Given the description of an element on the screen output the (x, y) to click on. 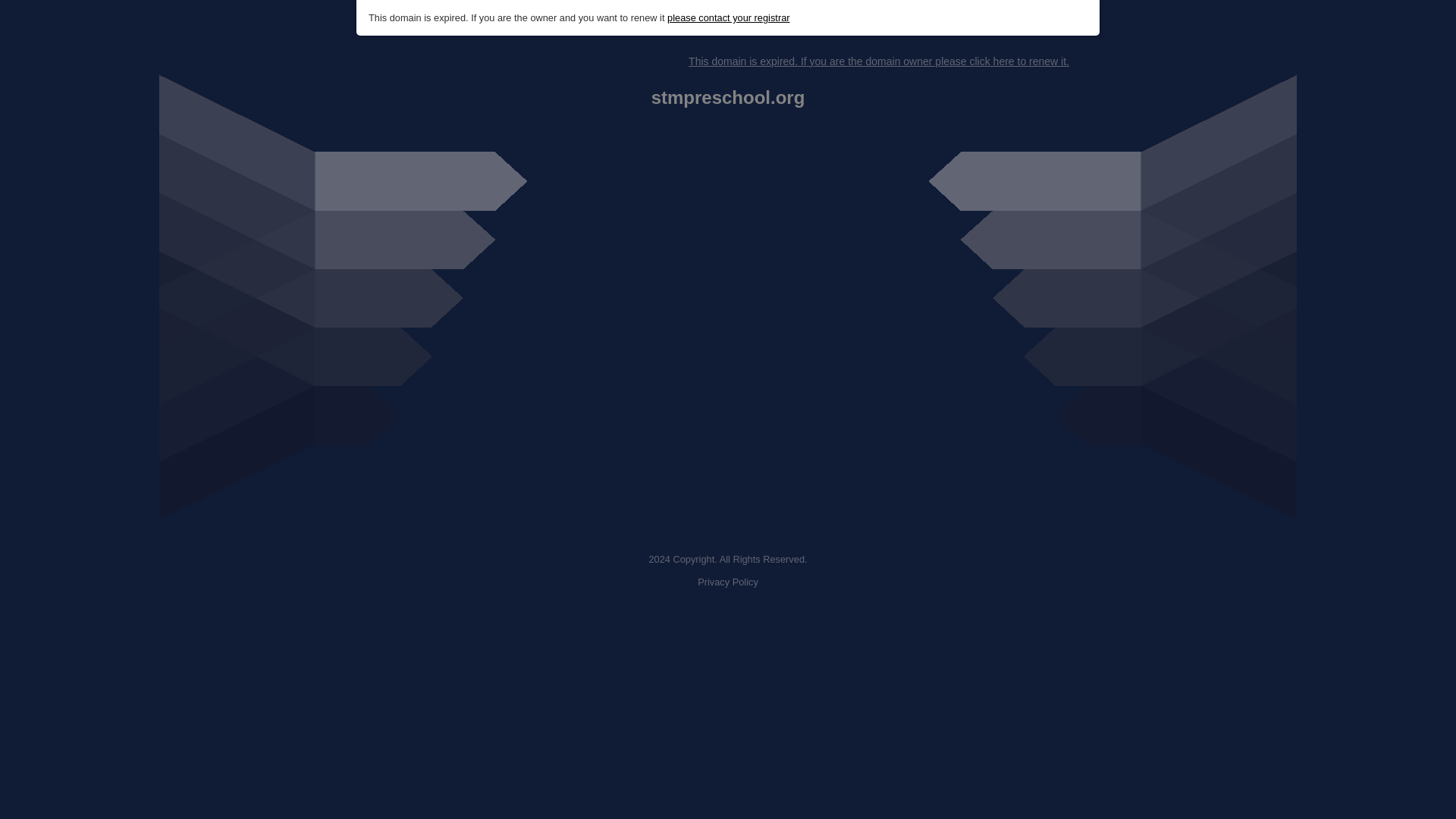
please contact your registrar (727, 17)
Privacy Policy (727, 582)
